Given the description of an element on the screen output the (x, y) to click on. 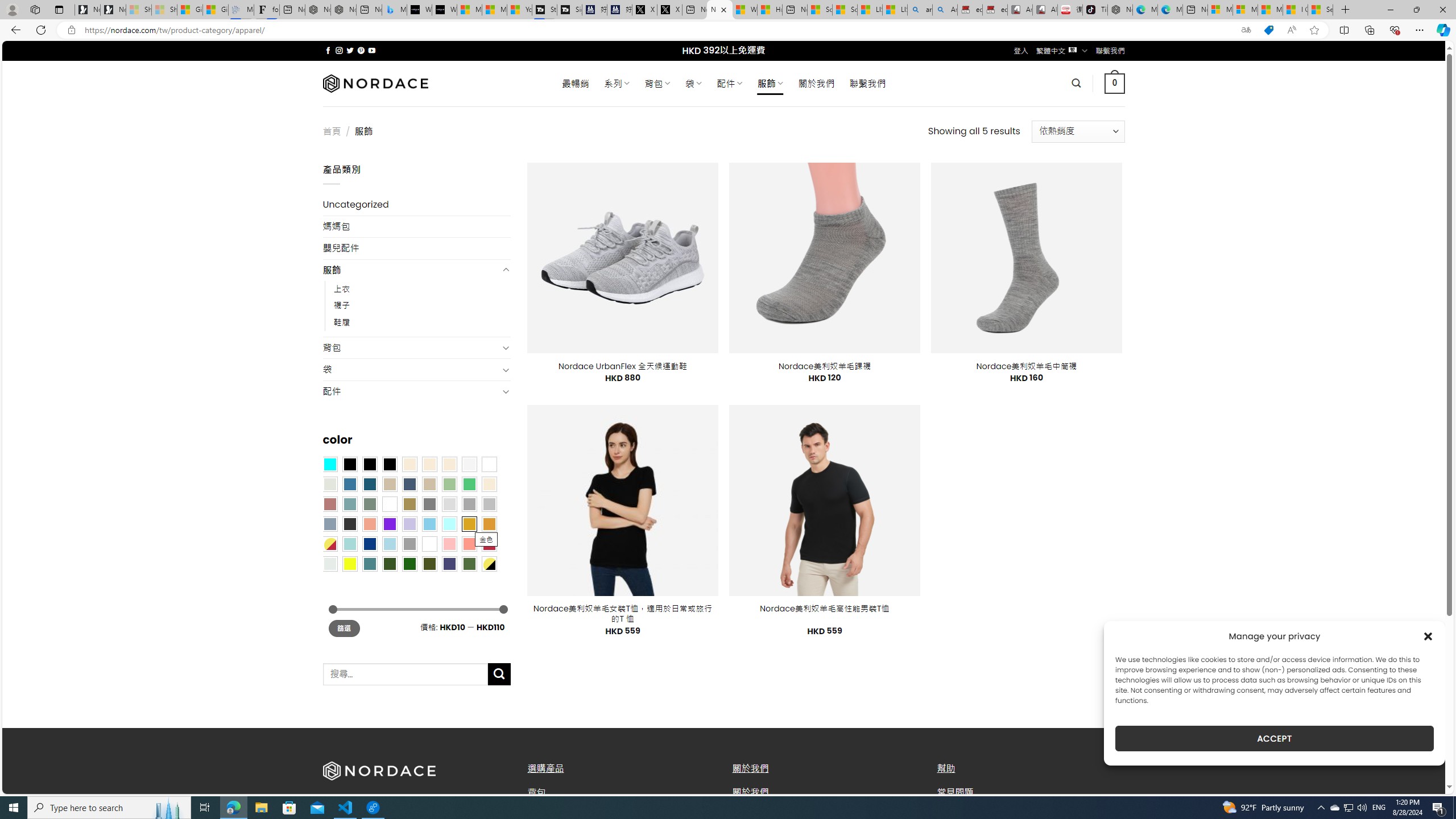
Cream (449, 464)
Amazon Echo Dot PNG - Search Images (944, 9)
Newsletter Sign Up (113, 9)
Dull Nickle (329, 563)
